Given the description of an element on the screen output the (x, y) to click on. 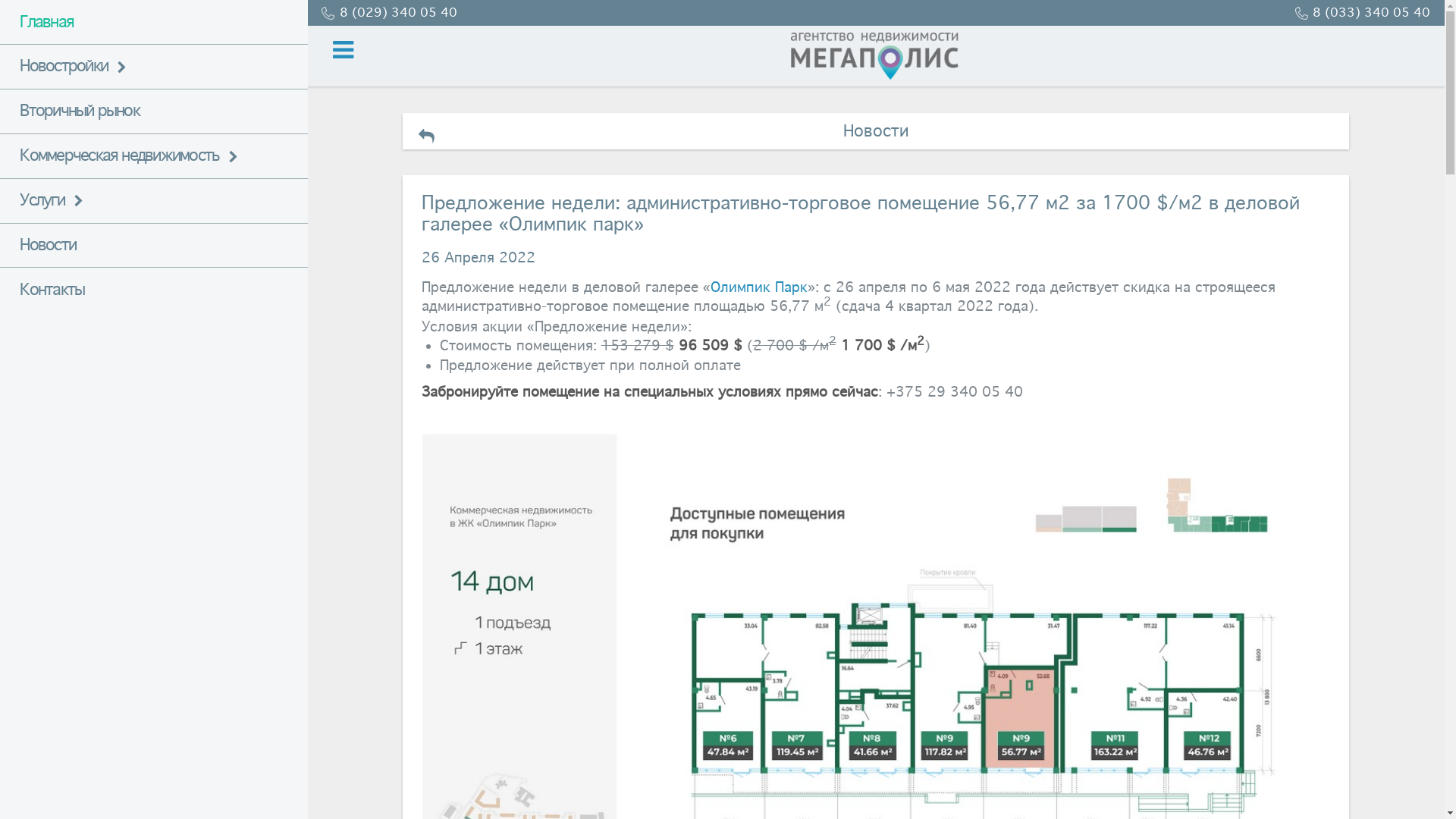
8 (033) 340 05 40 Element type: text (1362, 12)
8 (029) 340 05 40 Element type: text (388, 12)
Toggle Element type: text (343, 50)
